Given the description of an element on the screen output the (x, y) to click on. 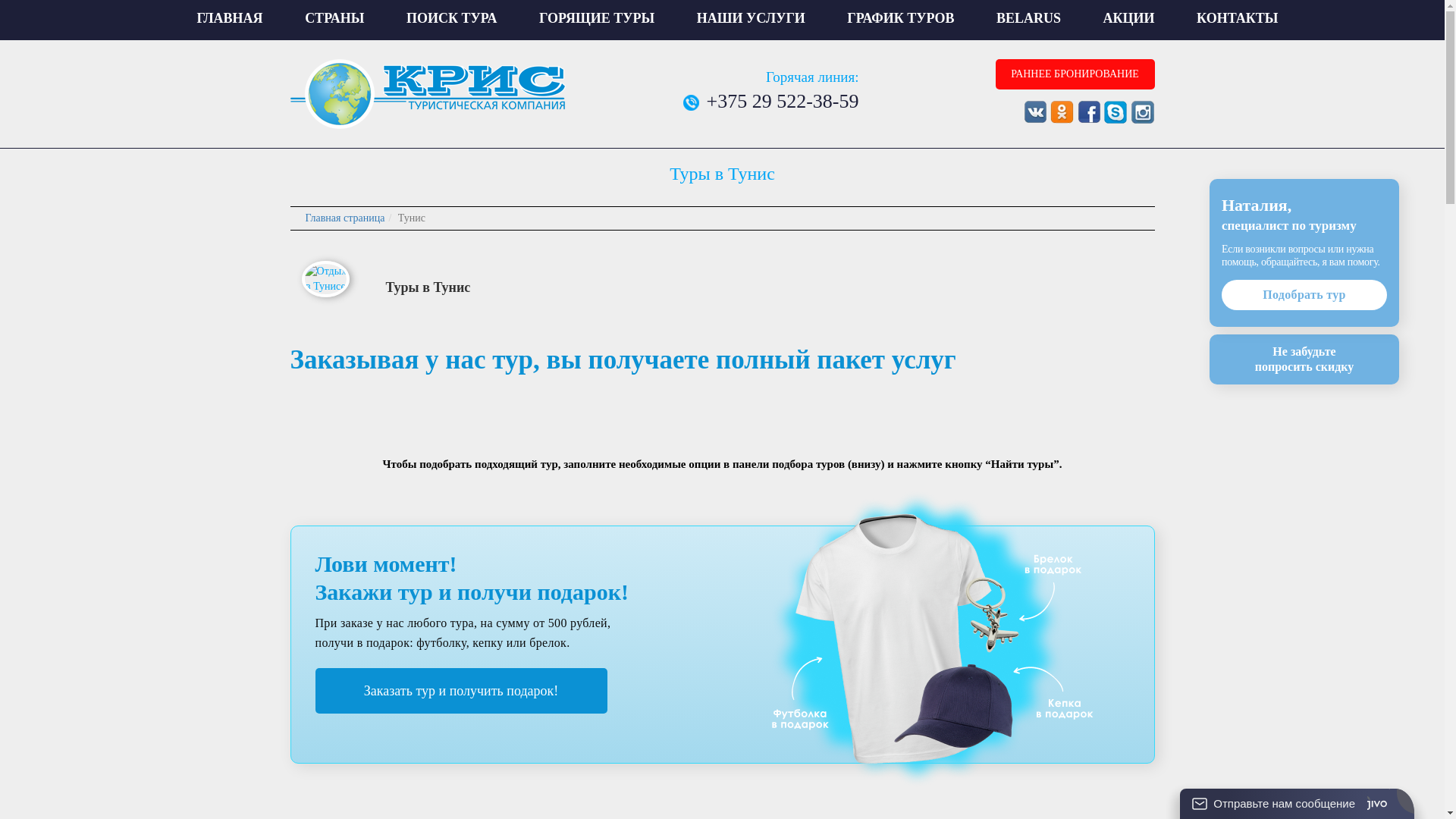
BELARUS Element type: text (1028, 17)
